Given the description of an element on the screen output the (x, y) to click on. 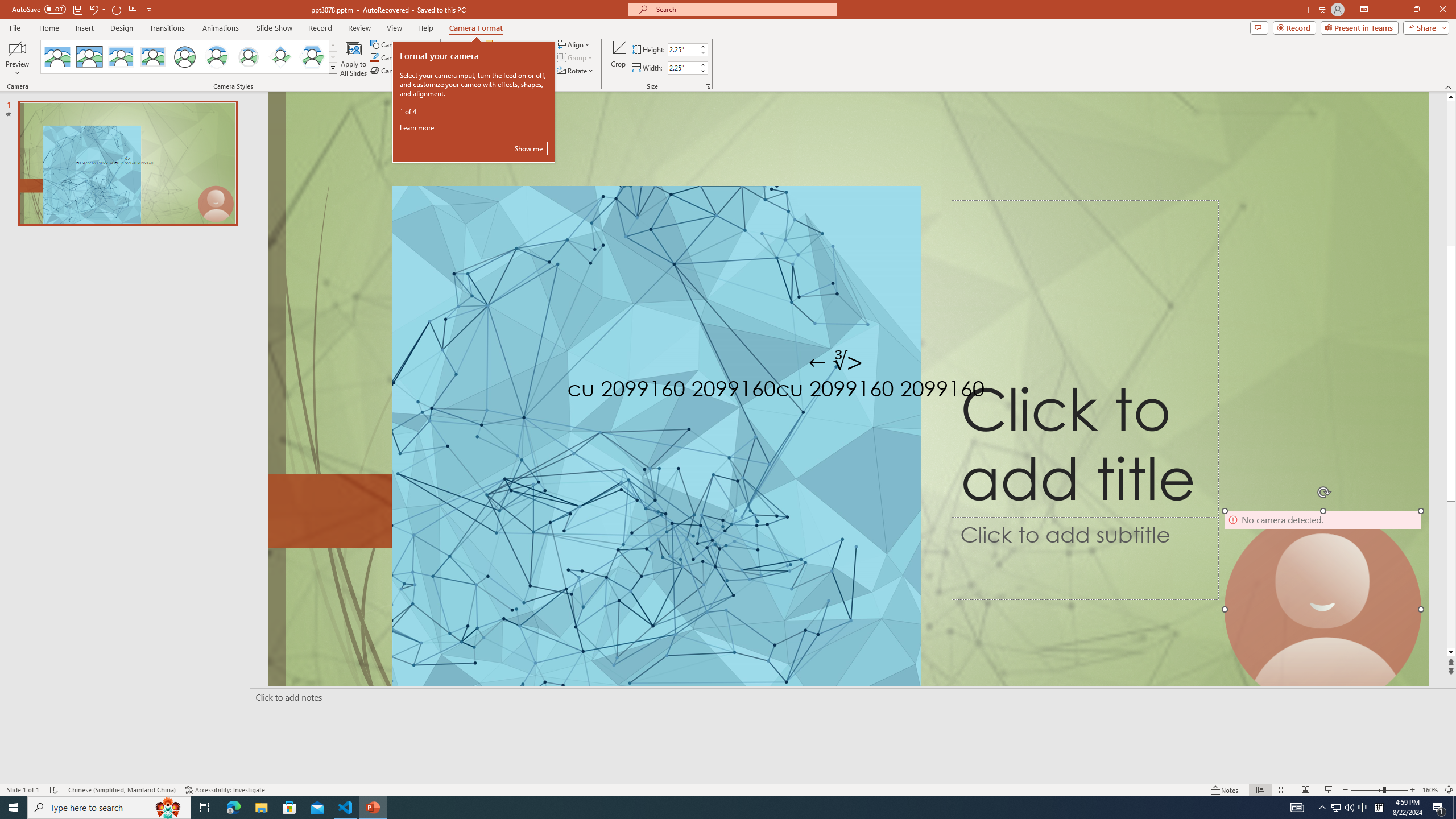
Camera Border (401, 56)
Zoom 160% (1430, 790)
Soft Edge Rectangle (152, 56)
Align (574, 44)
No Style (57, 56)
Camera Effects (402, 69)
Send Backward (514, 56)
Camera Styles (333, 67)
